Given the description of an element on the screen output the (x, y) to click on. 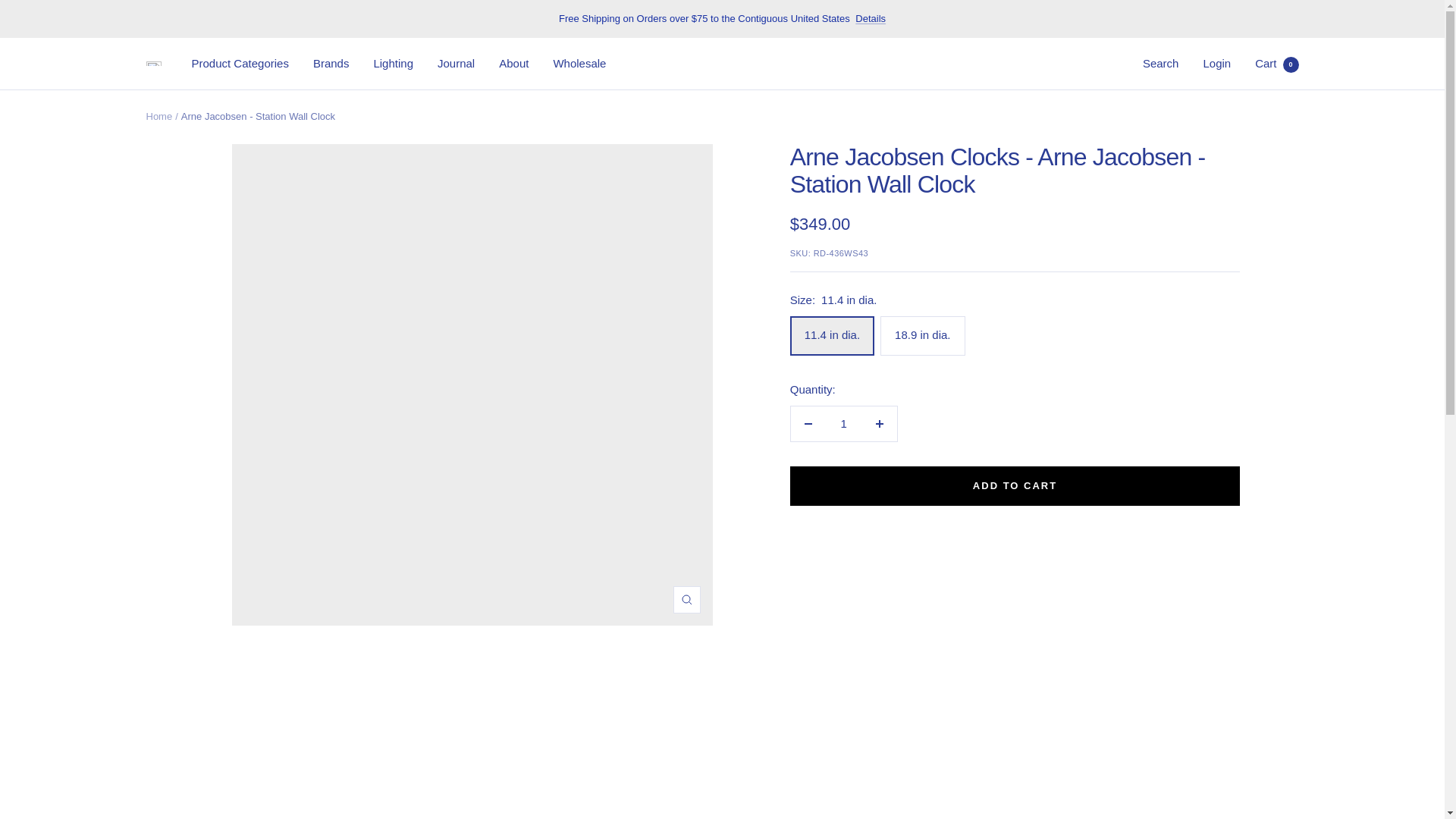
Search (1276, 62)
Login (1160, 62)
Brands (1216, 62)
About (331, 63)
Lighting (513, 63)
1 (392, 63)
11.4 in dia. (843, 423)
Journal (870, 18)
